Given the description of an element on the screen output the (x, y) to click on. 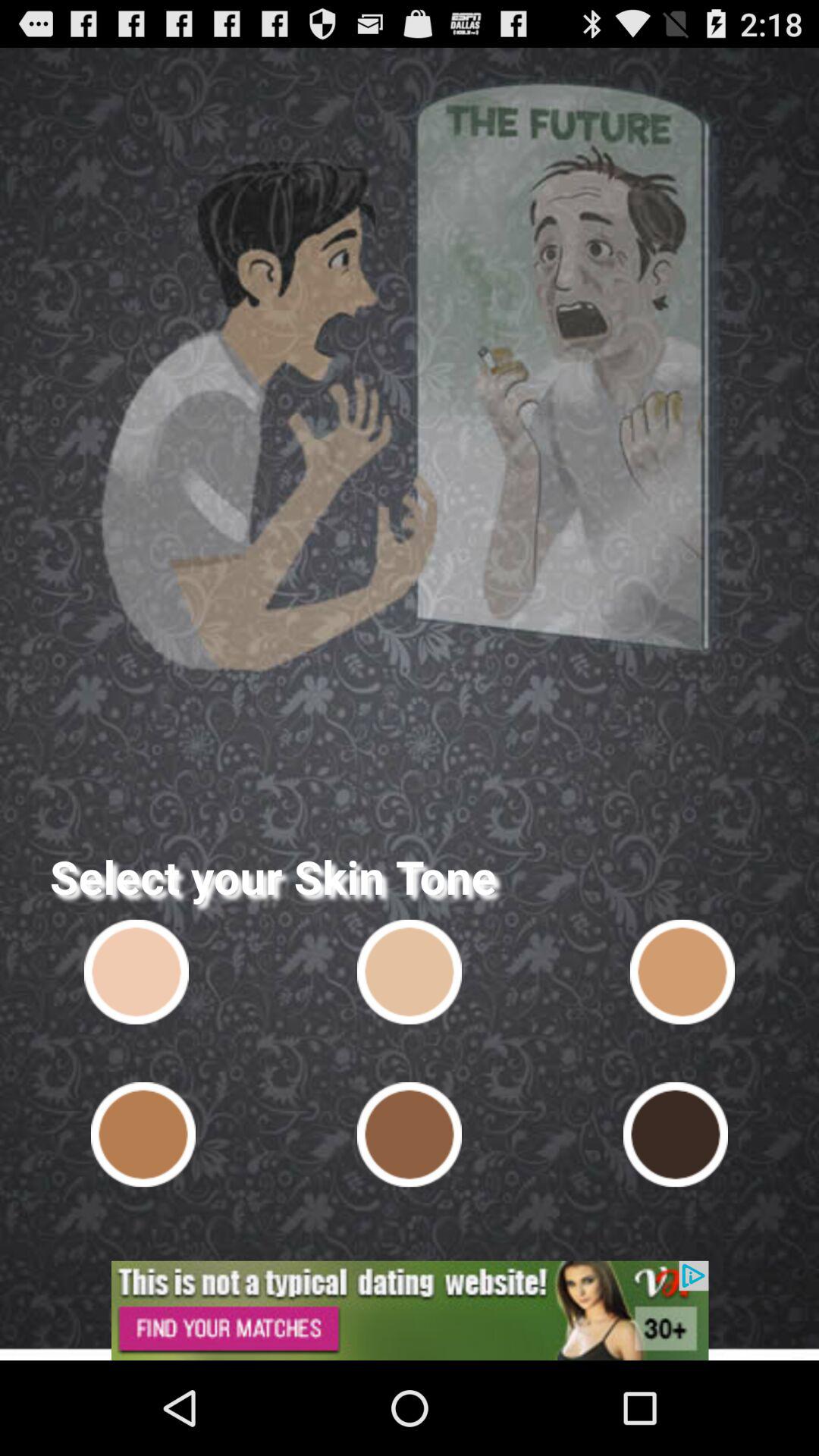
see advertisement (409, 1310)
